Given the description of an element on the screen output the (x, y) to click on. 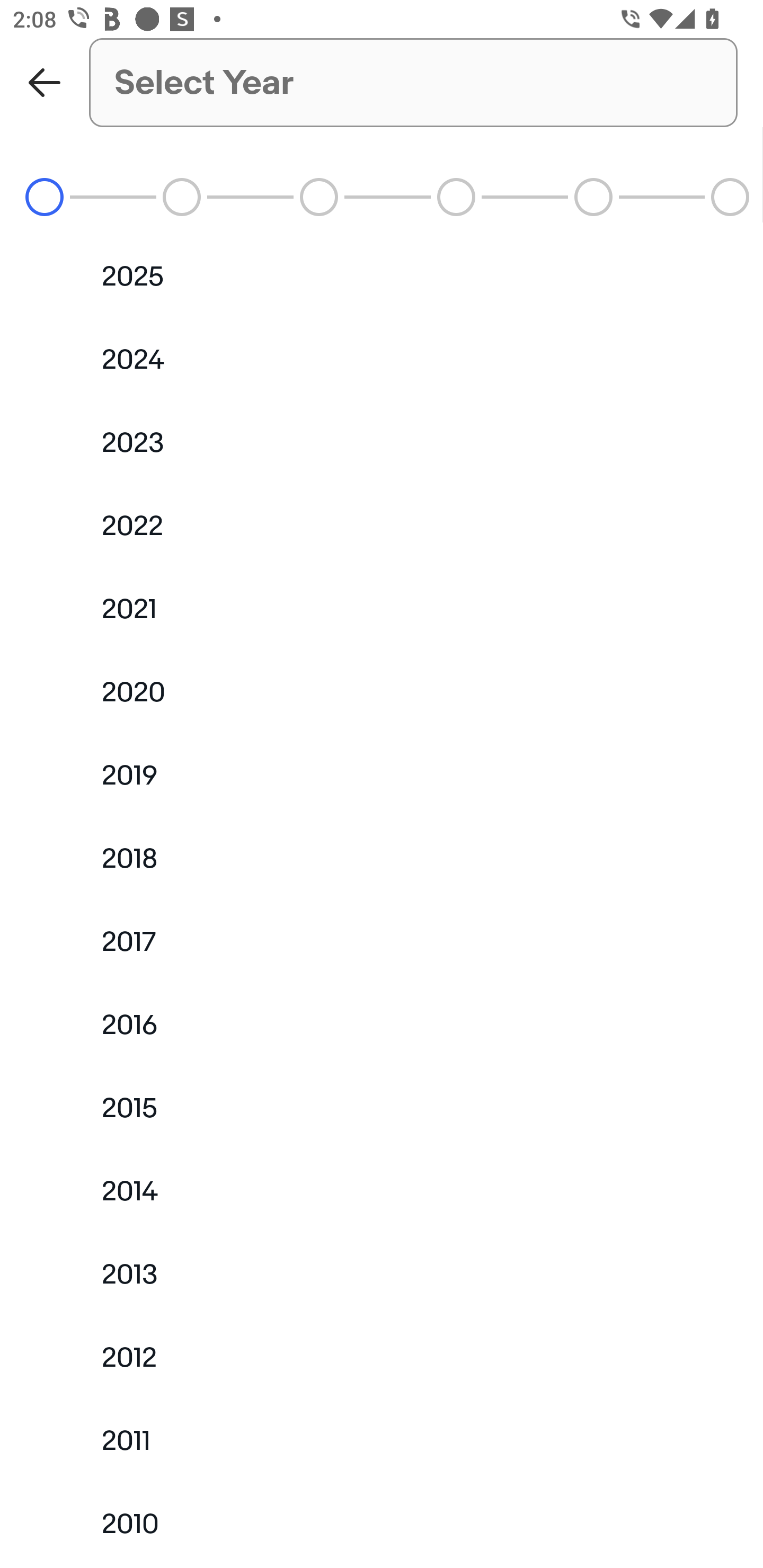
Back (44, 82)
Select Year (413, 82)
2025 (381, 276)
2024 (381, 359)
2023 (381, 442)
2022 (381, 525)
2021 (381, 608)
2020 (381, 691)
2019 (381, 774)
2018 (381, 858)
2017 (381, 941)
2016 (381, 1024)
2015 (381, 1107)
2014 (381, 1190)
2013 (381, 1274)
2012 (381, 1358)
2011 (381, 1441)
2010 (381, 1524)
